Given the description of an element on the screen output the (x, y) to click on. 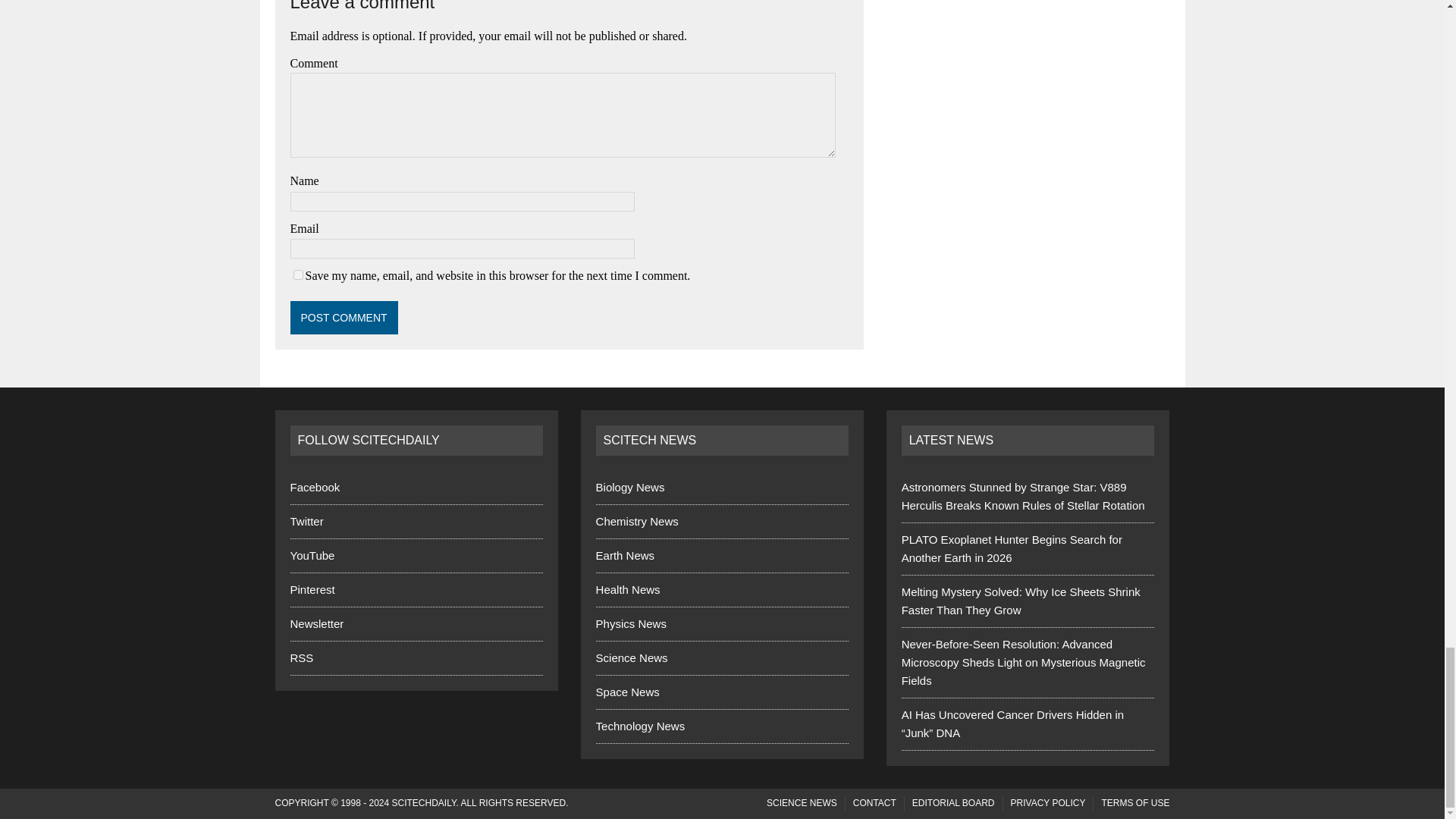
Post Comment (343, 317)
yes (297, 275)
